Given the description of an element on the screen output the (x, y) to click on. 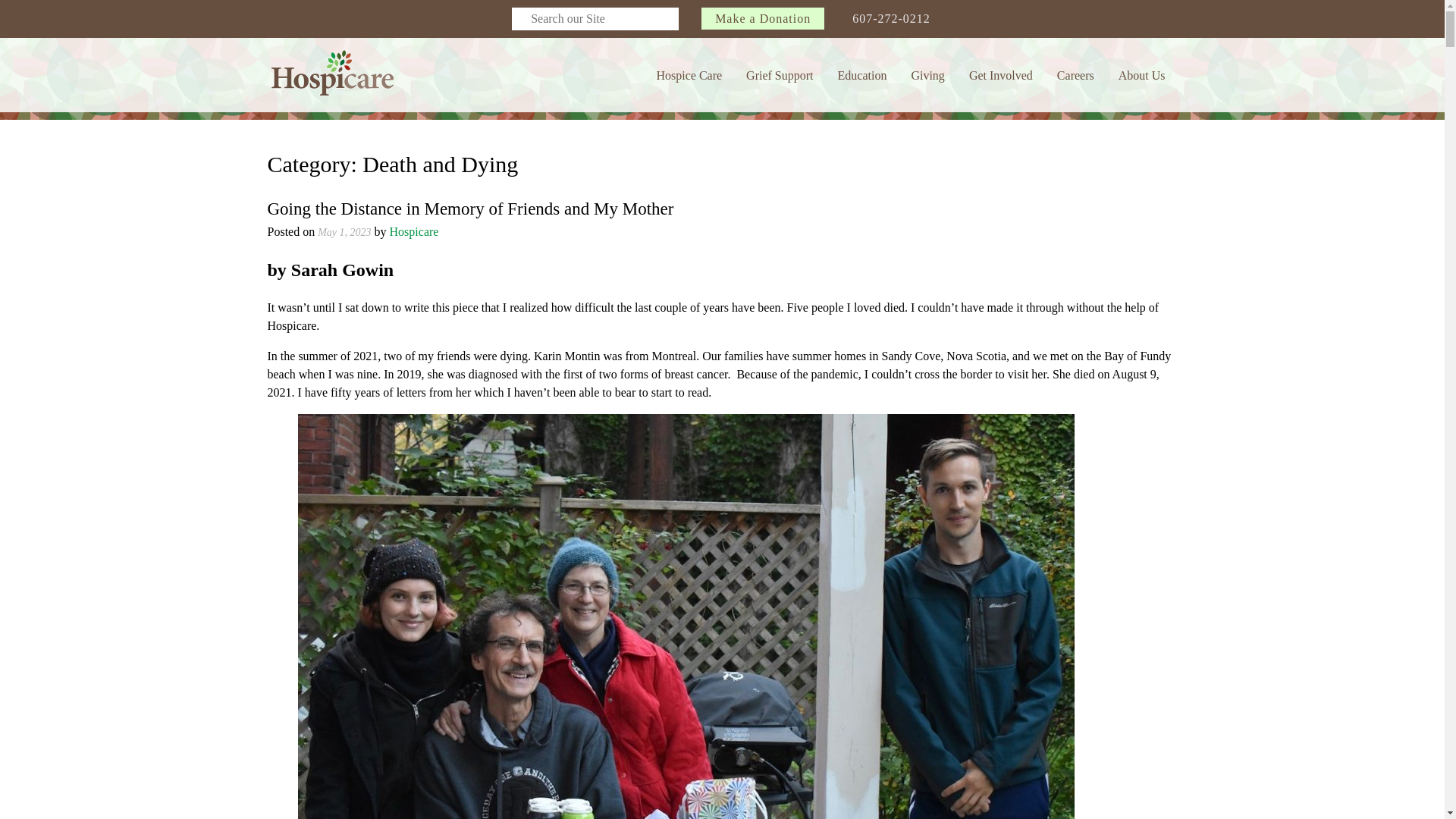
Hospice Care (688, 74)
Make a Donation (762, 18)
607-272-0212 (890, 18)
Hospicare (331, 72)
